Given the description of an element on the screen output the (x, y) to click on. 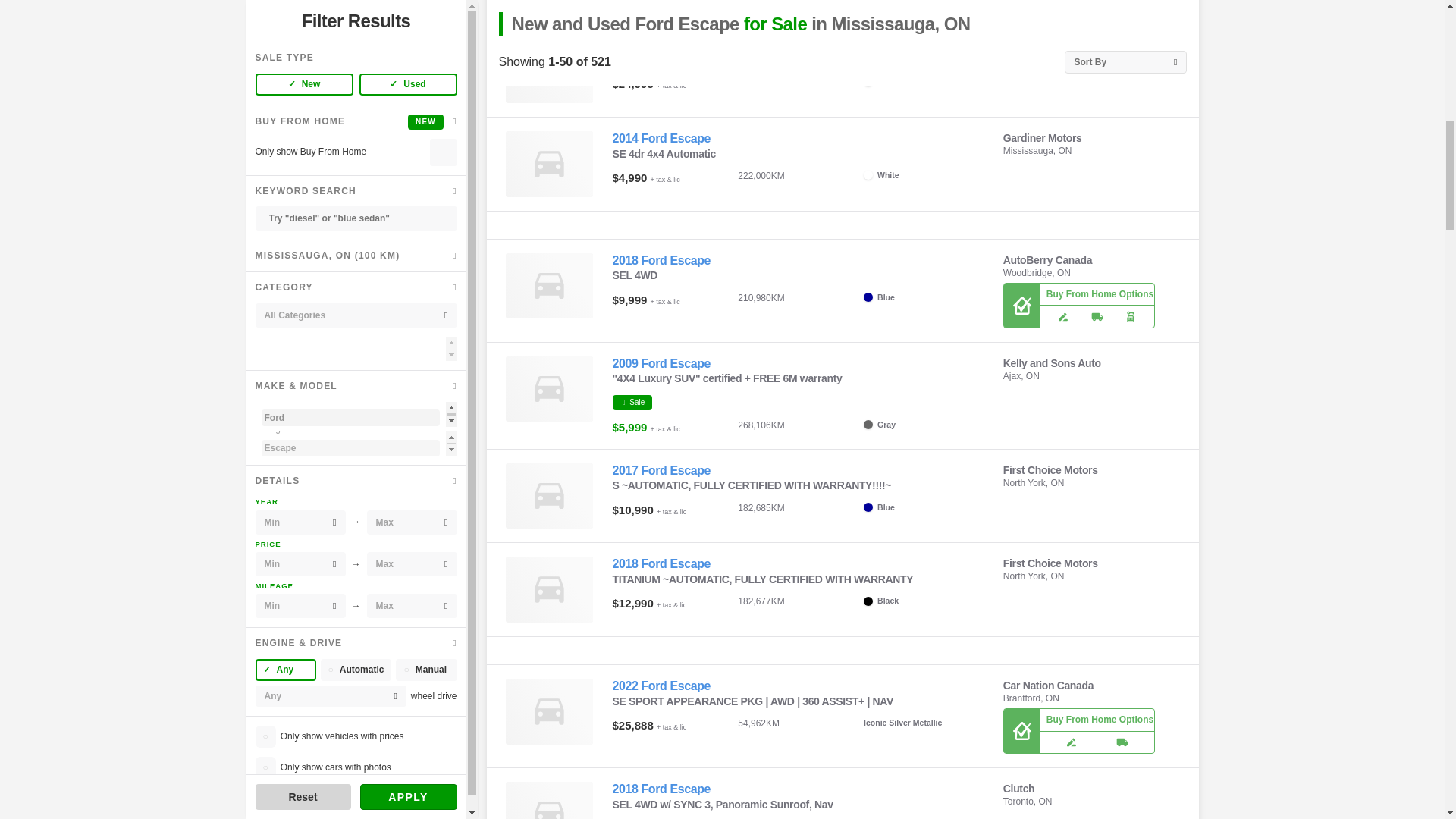
2018 Ford Escape SEL 4WD (661, 259)
2014 Ford Escape SE 4dr 4x4 Automatic (661, 137)
Used 2018 Ford Escape SEL 4WD for sale in Woodbridge, ON (549, 286)
